Given the description of an element on the screen output the (x, y) to click on. 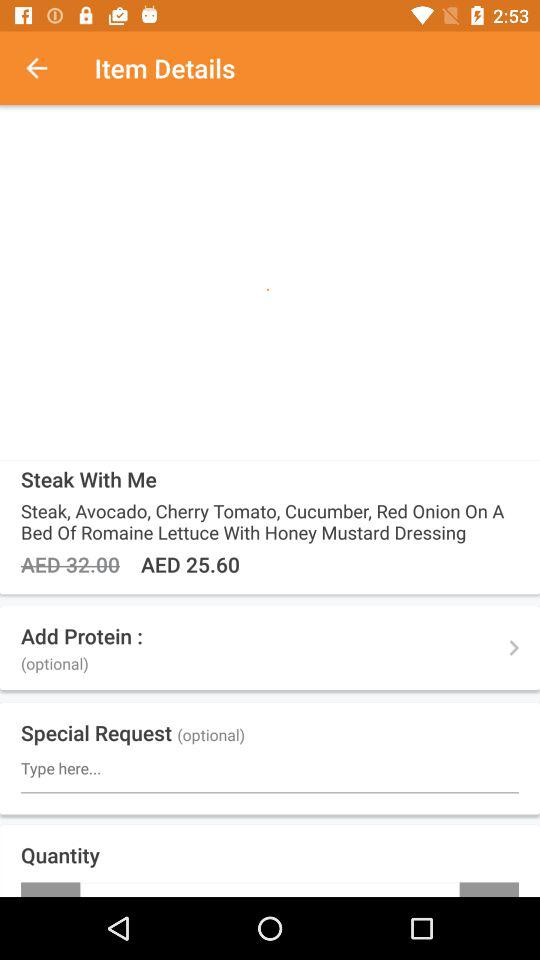
turn off the item to the left of the + icon (50, 889)
